Given the description of an element on the screen output the (x, y) to click on. 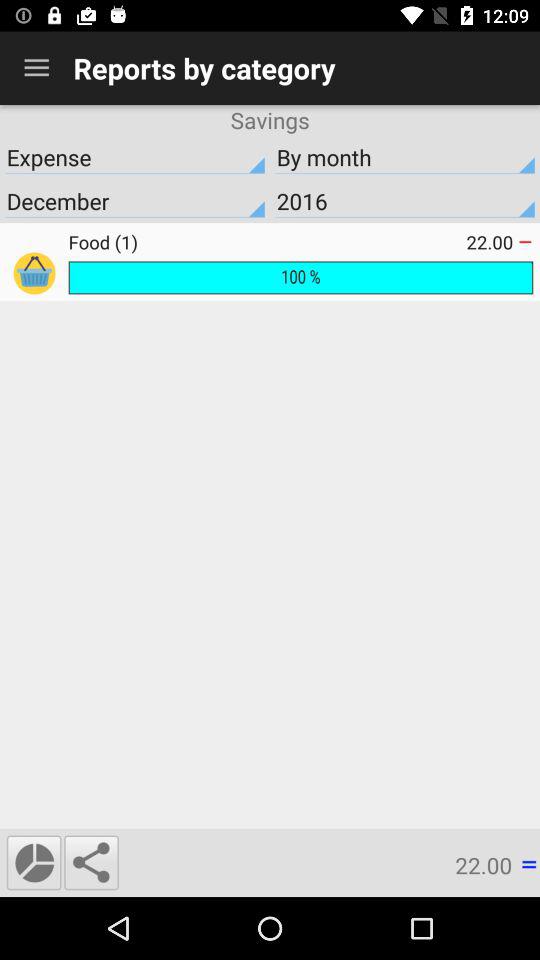
jump to 2016 (405, 201)
